Given the description of an element on the screen output the (x, y) to click on. 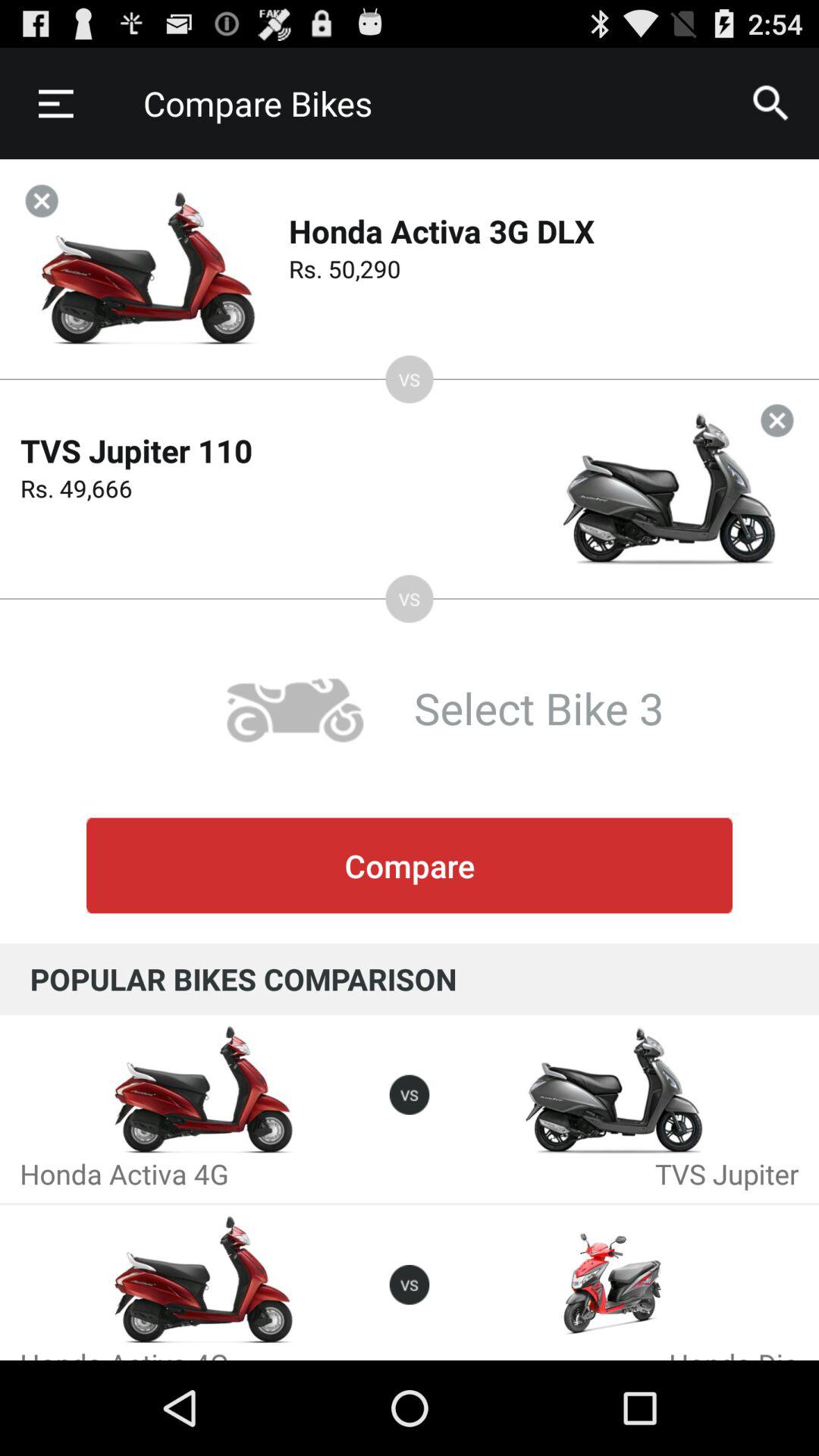
close the displayed item (41, 200)
